Given the description of an element on the screen output the (x, y) to click on. 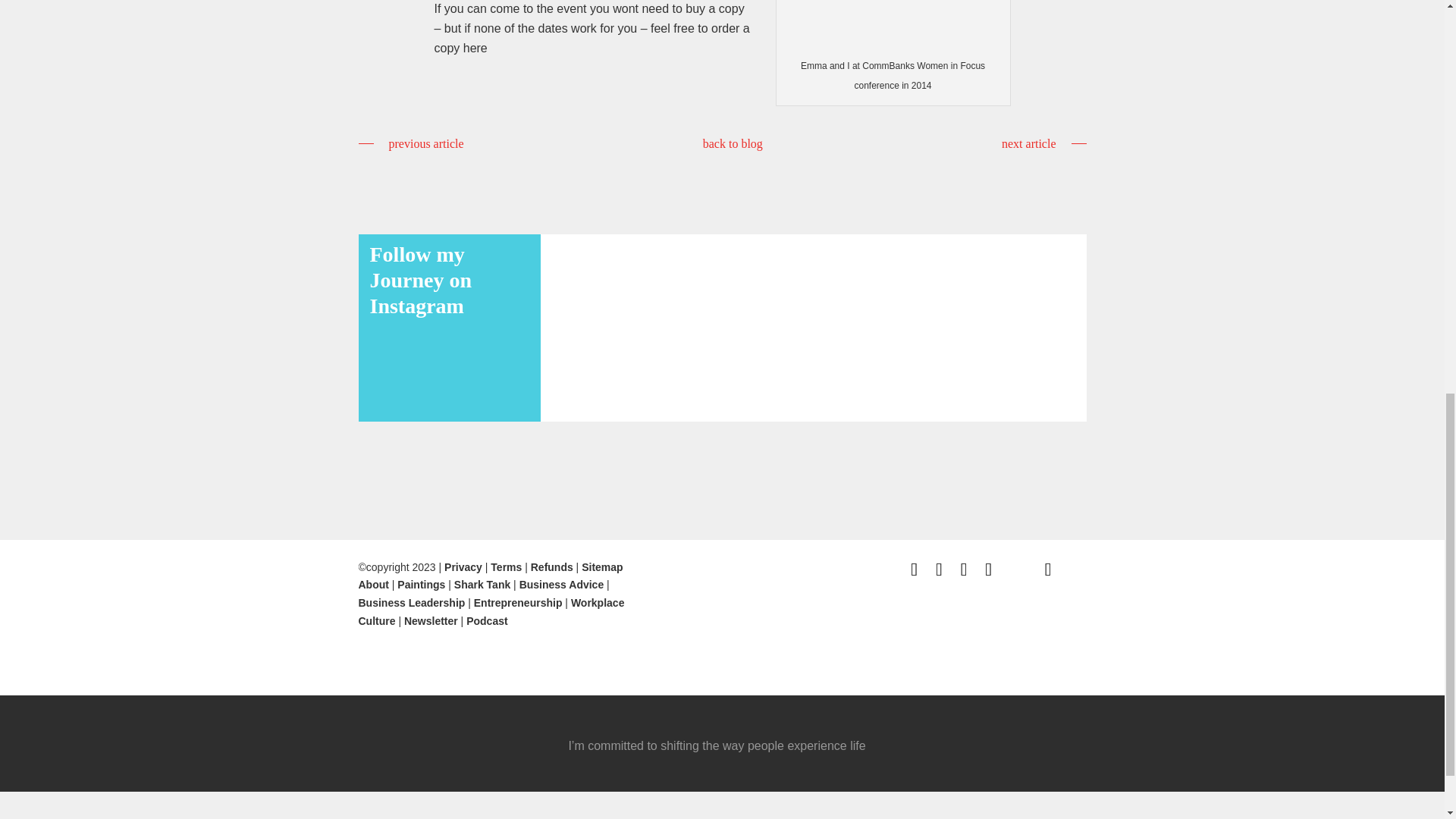
Privacy (462, 567)
back to blog (732, 143)
next article (1043, 144)
previous article (410, 144)
Terms (505, 567)
